Given the description of an element on the screen output the (x, y) to click on. 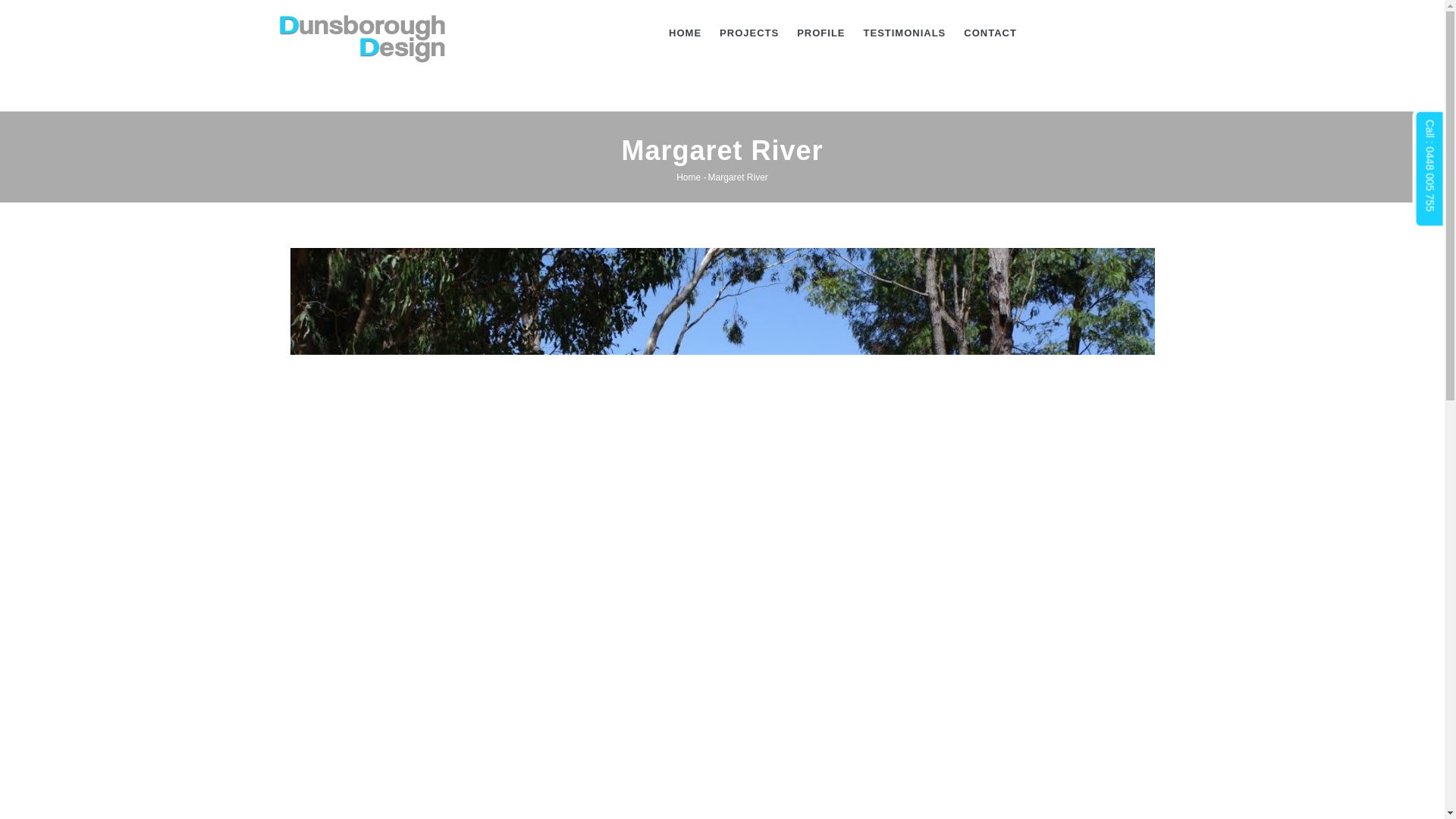
CONTACT (990, 33)
PROFILE (820, 33)
PROJECTS (748, 33)
TESTIMONIALS (904, 33)
Home (362, 30)
Home (688, 176)
